Given the description of an element on the screen output the (x, y) to click on. 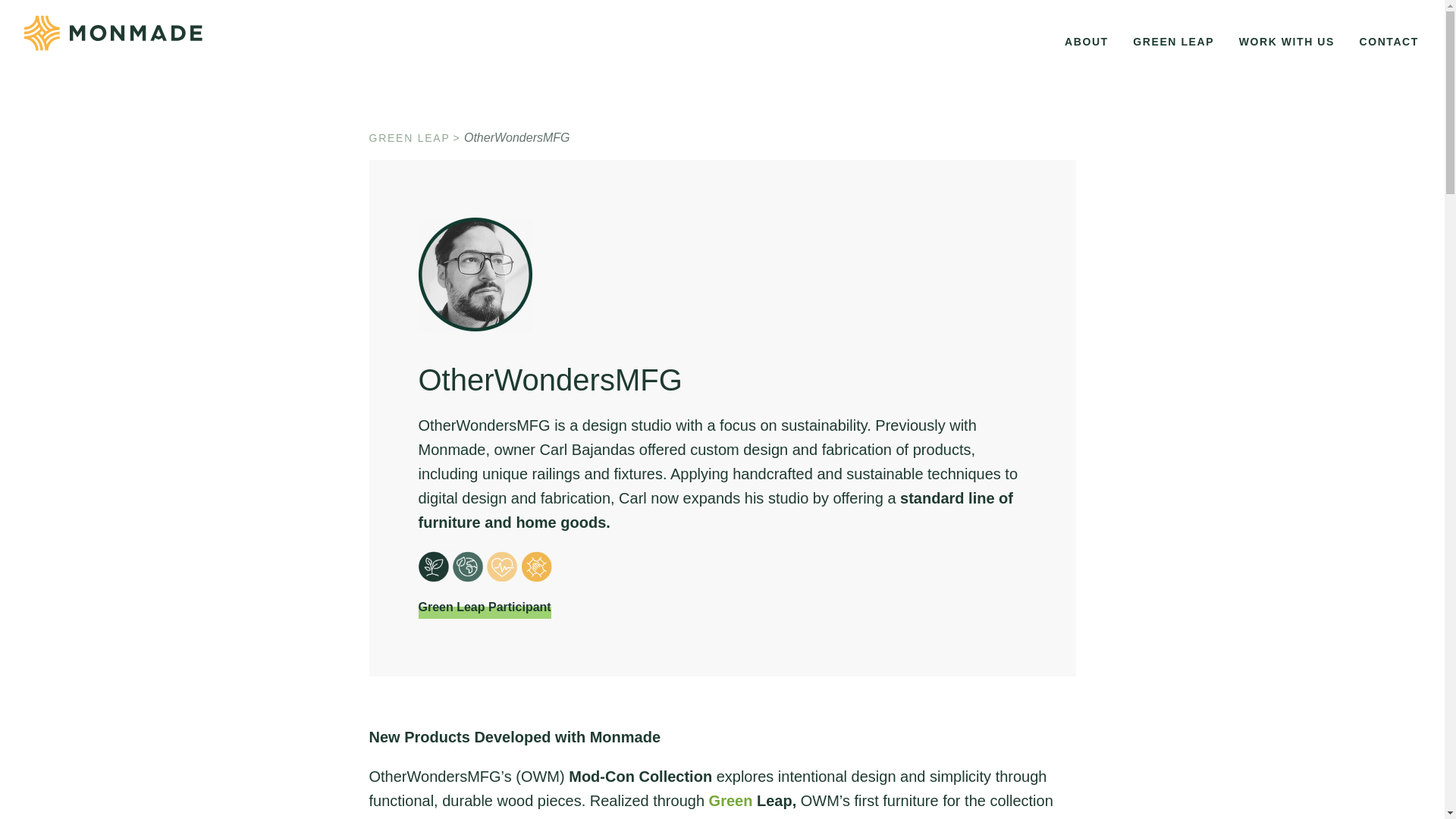
GREEN LEAP (414, 137)
CONTACT (1388, 42)
Monmade (113, 32)
Green Leap Participant (485, 607)
WORK WITH US (1286, 42)
GREEN LEAP (1173, 42)
ABOUT (1085, 42)
